Given the description of an element on the screen output the (x, y) to click on. 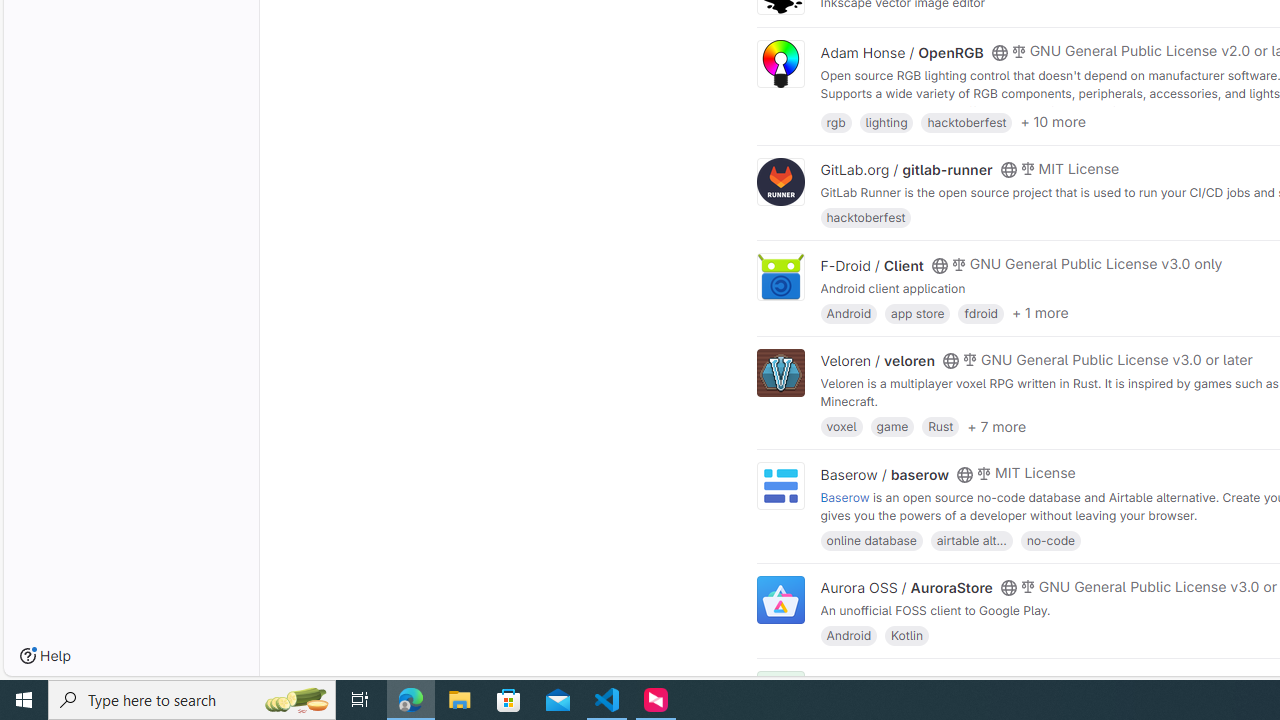
Veloren / veloren (877, 361)
Adam Honse / OpenRGB (902, 52)
Kotlin (907, 634)
online database (871, 539)
Class: project (780, 599)
Aurora OSS / AuroraStore (906, 587)
lighting (886, 120)
F (780, 695)
+ 7 more (996, 425)
https://openrgb.org (989, 110)
GitLab.org / gitlab-runner (906, 170)
hacktoberfest (866, 217)
game (892, 426)
app store (917, 312)
